Given the description of an element on the screen output the (x, y) to click on. 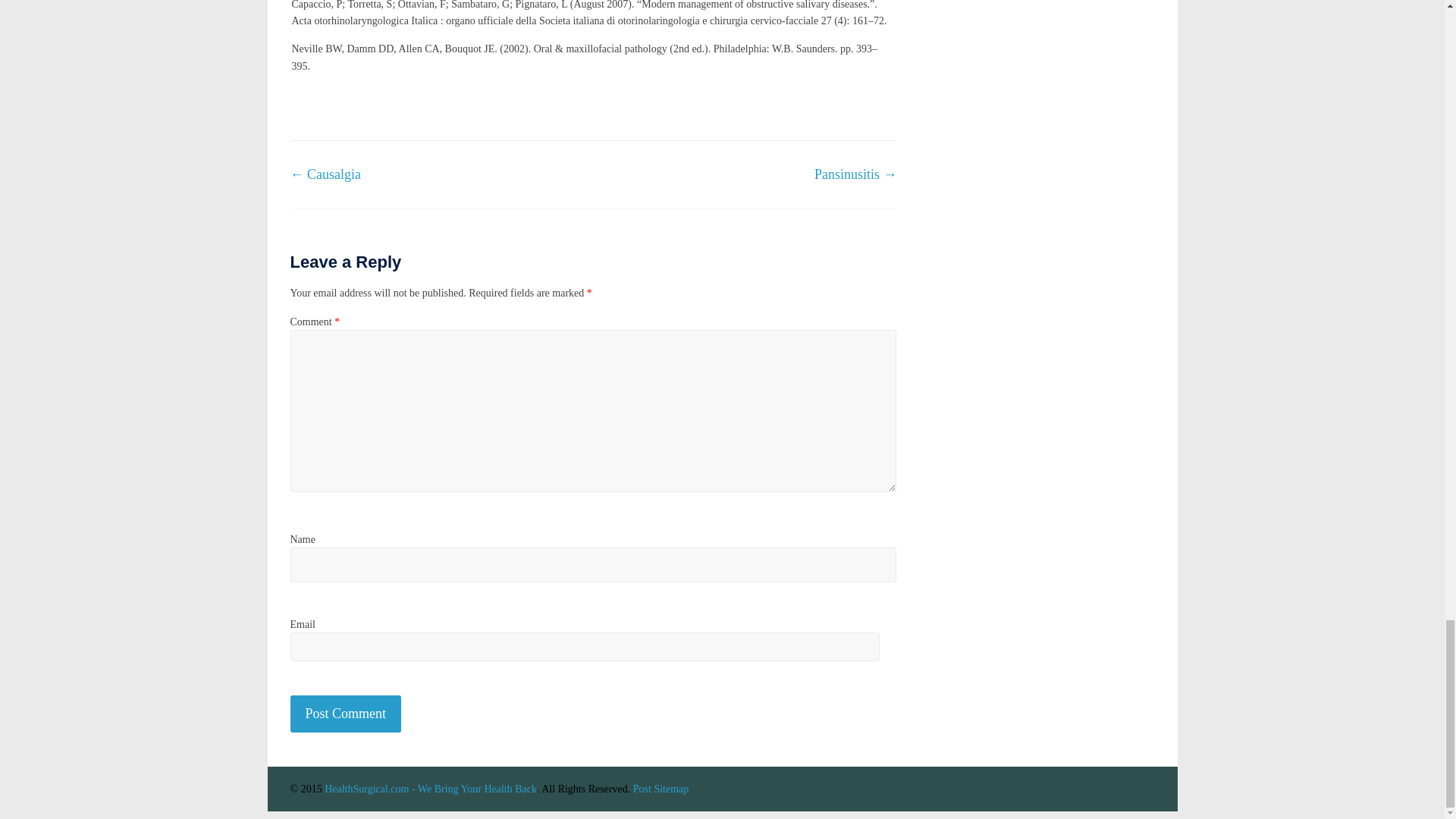
HealthSurgical.com - We Bring Your Health Back (430, 788)
Post Comment (345, 713)
Post Comment (345, 713)
Post Sitemap (660, 788)
